Given the description of an element on the screen output the (x, y) to click on. 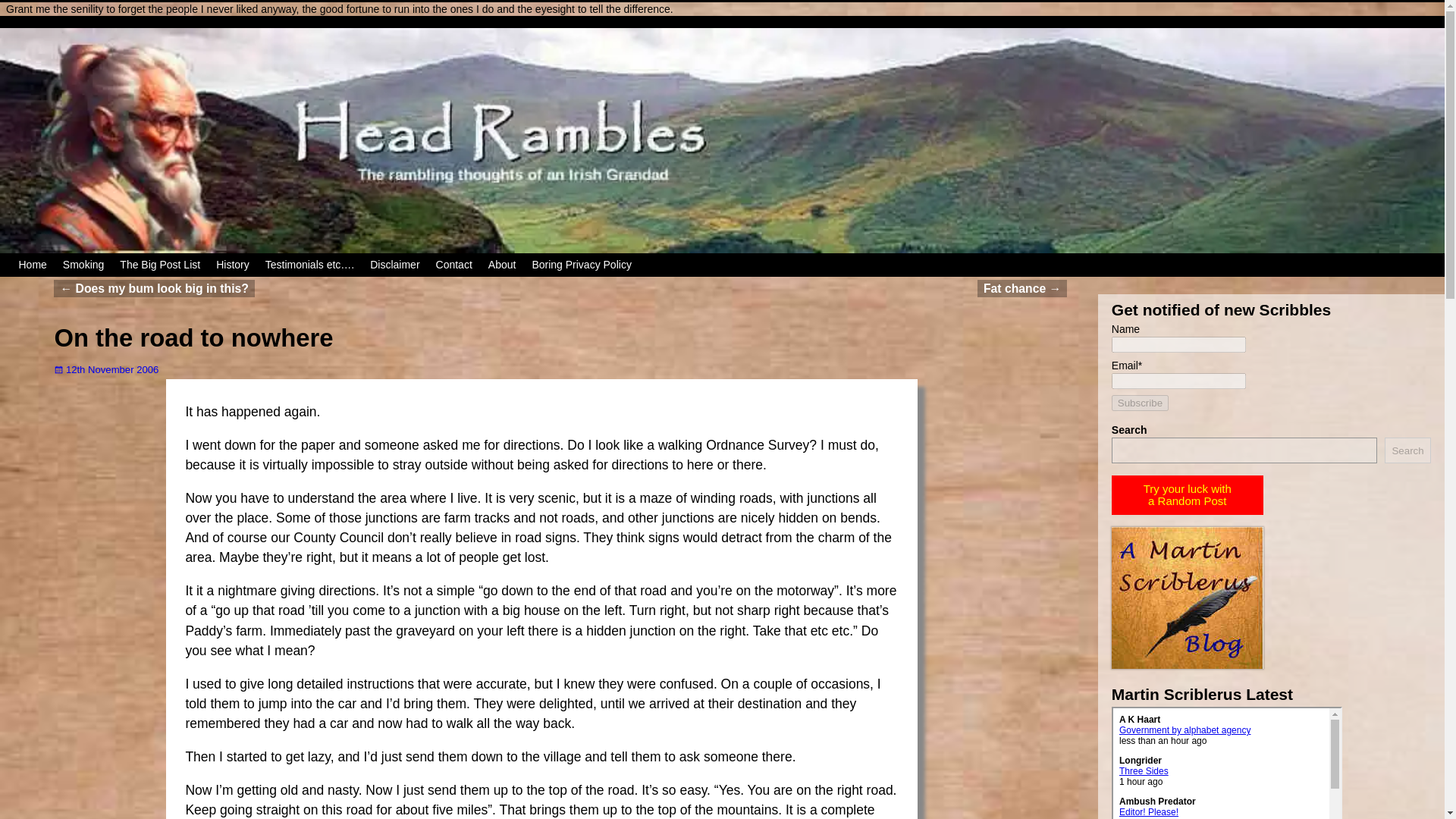
12th November 2006 (105, 369)
History (232, 264)
Subscribe (1140, 402)
Contact (454, 264)
The Big Post List (160, 264)
10:59 am (105, 369)
Boring Privacy Policy (582, 264)
About (502, 264)
Disclaimer (395, 264)
Smoking (83, 264)
Home (32, 264)
